Given the description of an element on the screen output the (x, y) to click on. 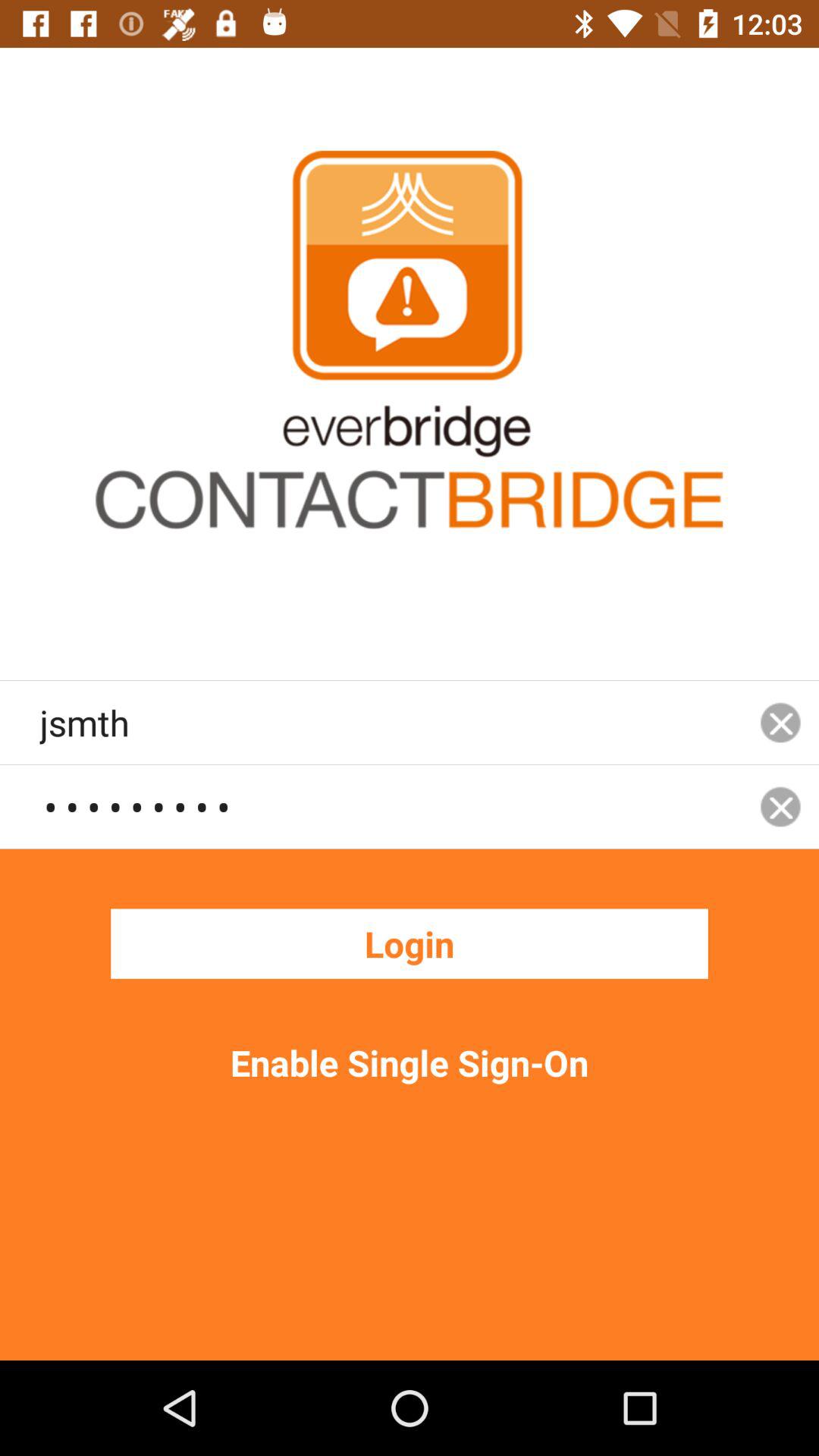
select the enable single sign (409, 1062)
